Given the description of an element on the screen output the (x, y) to click on. 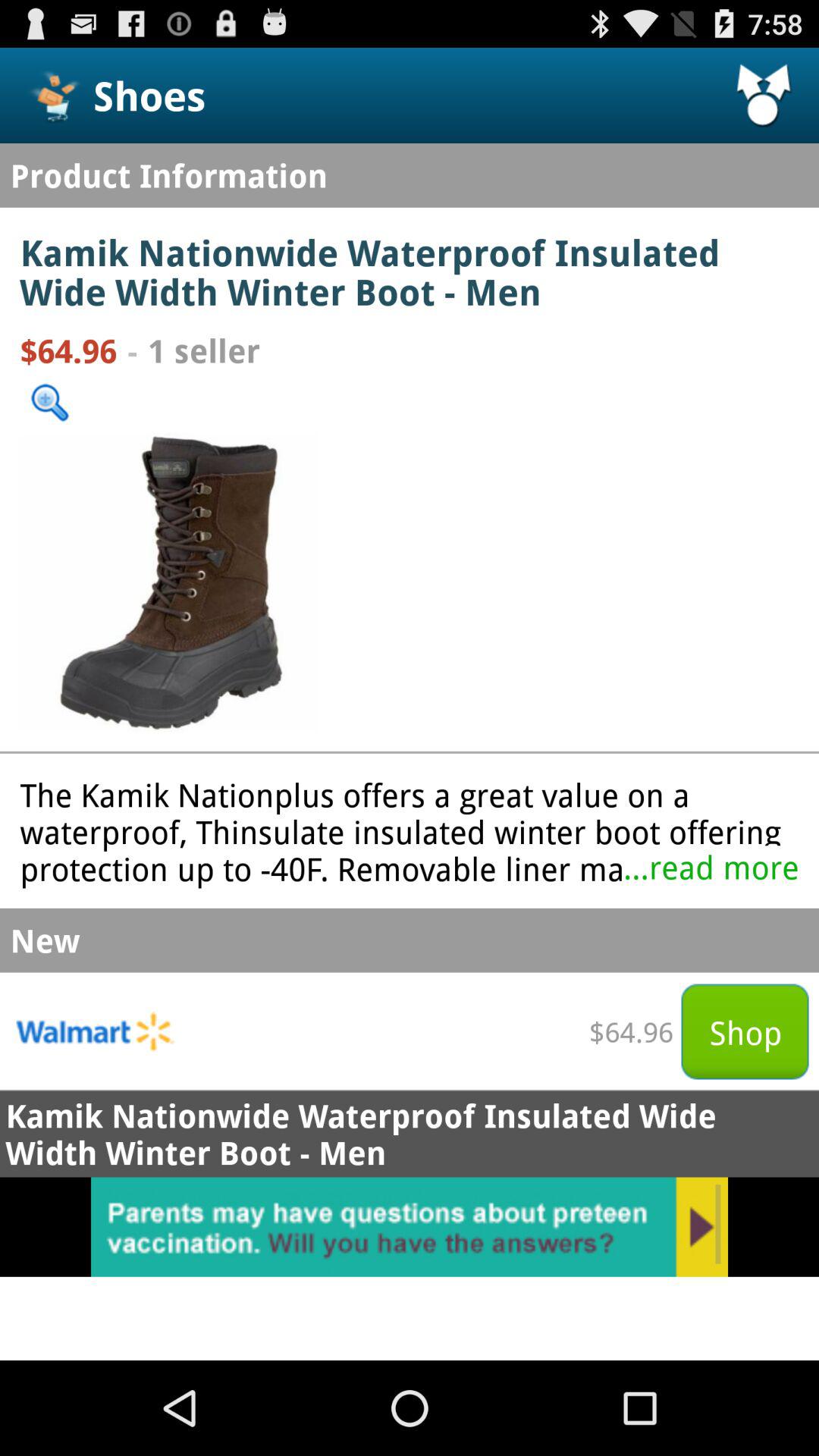
enlarges display image (168, 581)
